Given the description of an element on the screen output the (x, y) to click on. 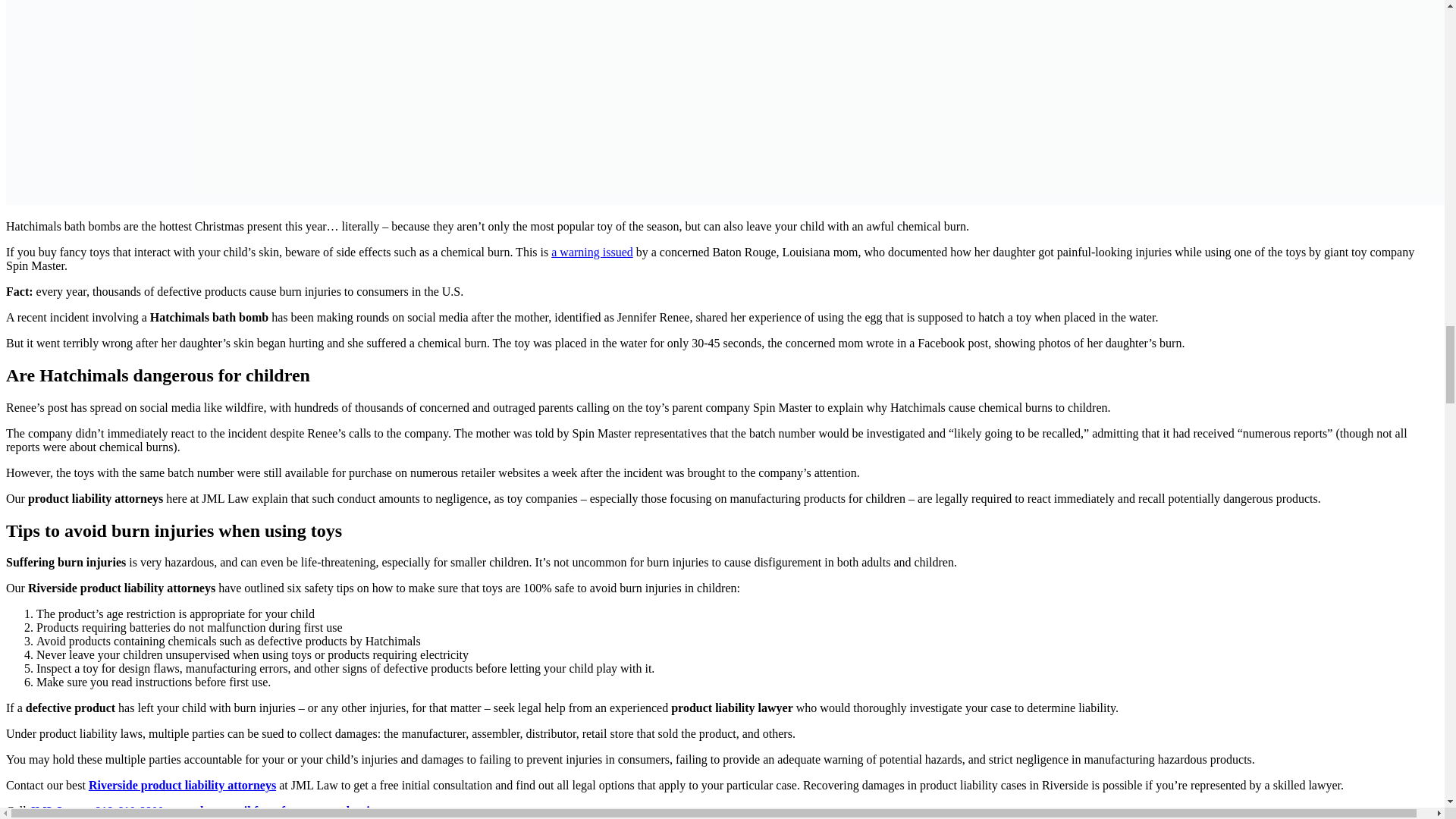
Riverside product liability attorneys (182, 784)
a warning issued (592, 251)
send an email for a free case evaluation (280, 810)
818-610-8800 (128, 810)
